Given the description of an element on the screen output the (x, y) to click on. 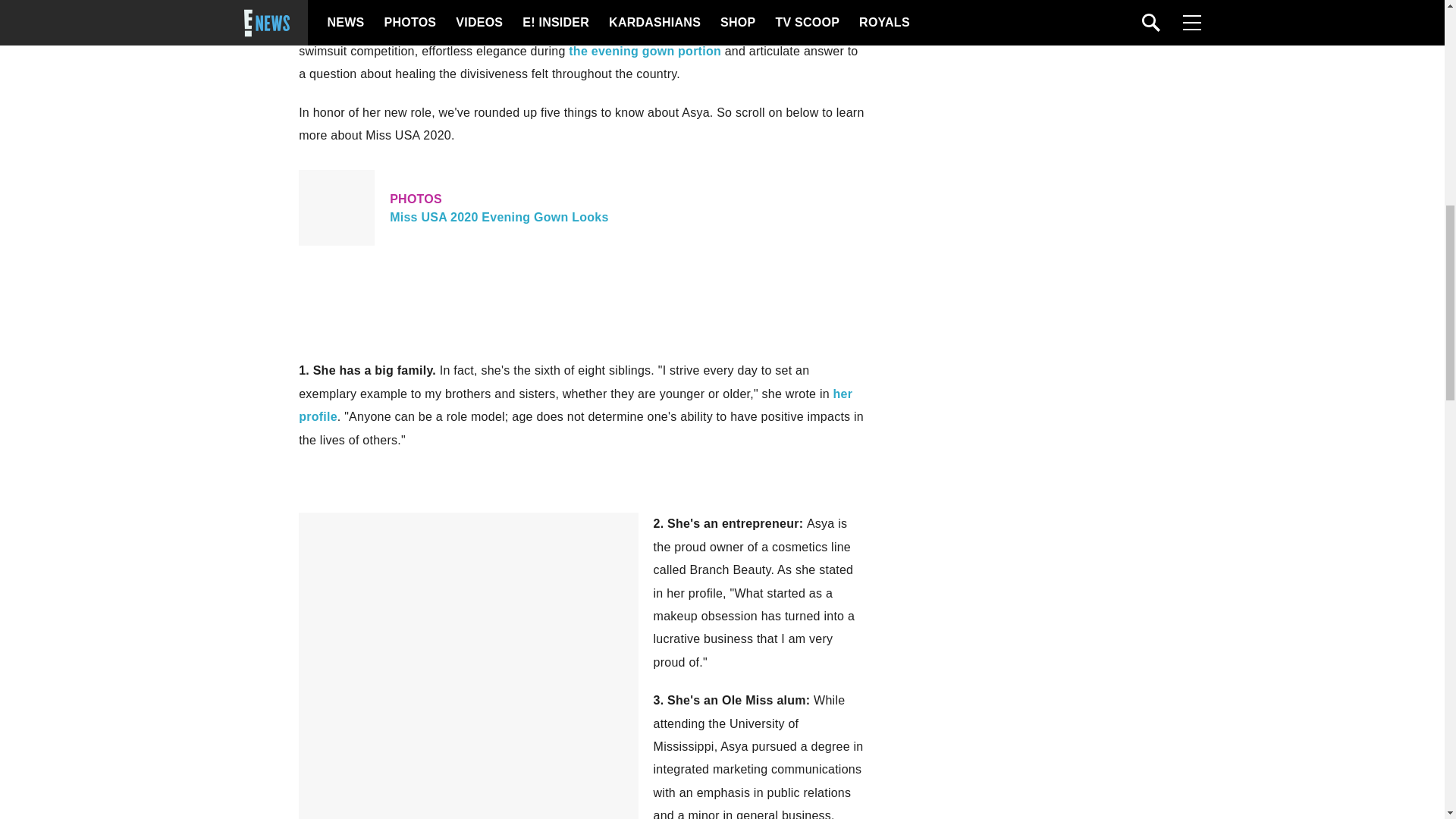
the evening gown portion (644, 51)
her profile (574, 405)
